Given the description of an element on the screen output the (x, y) to click on. 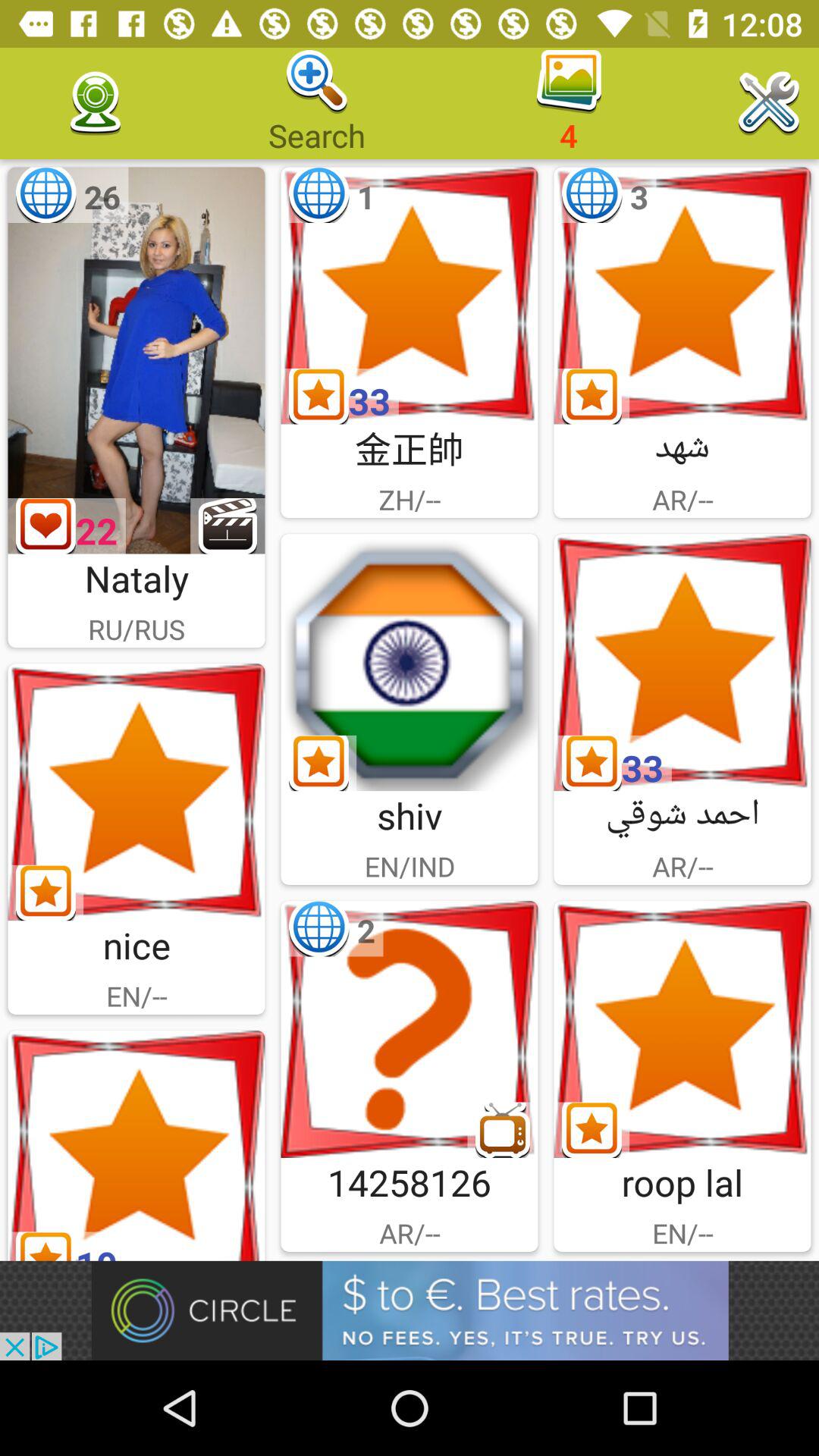
the icon is very simple (409, 662)
